Given the description of an element on the screen output the (x, y) to click on. 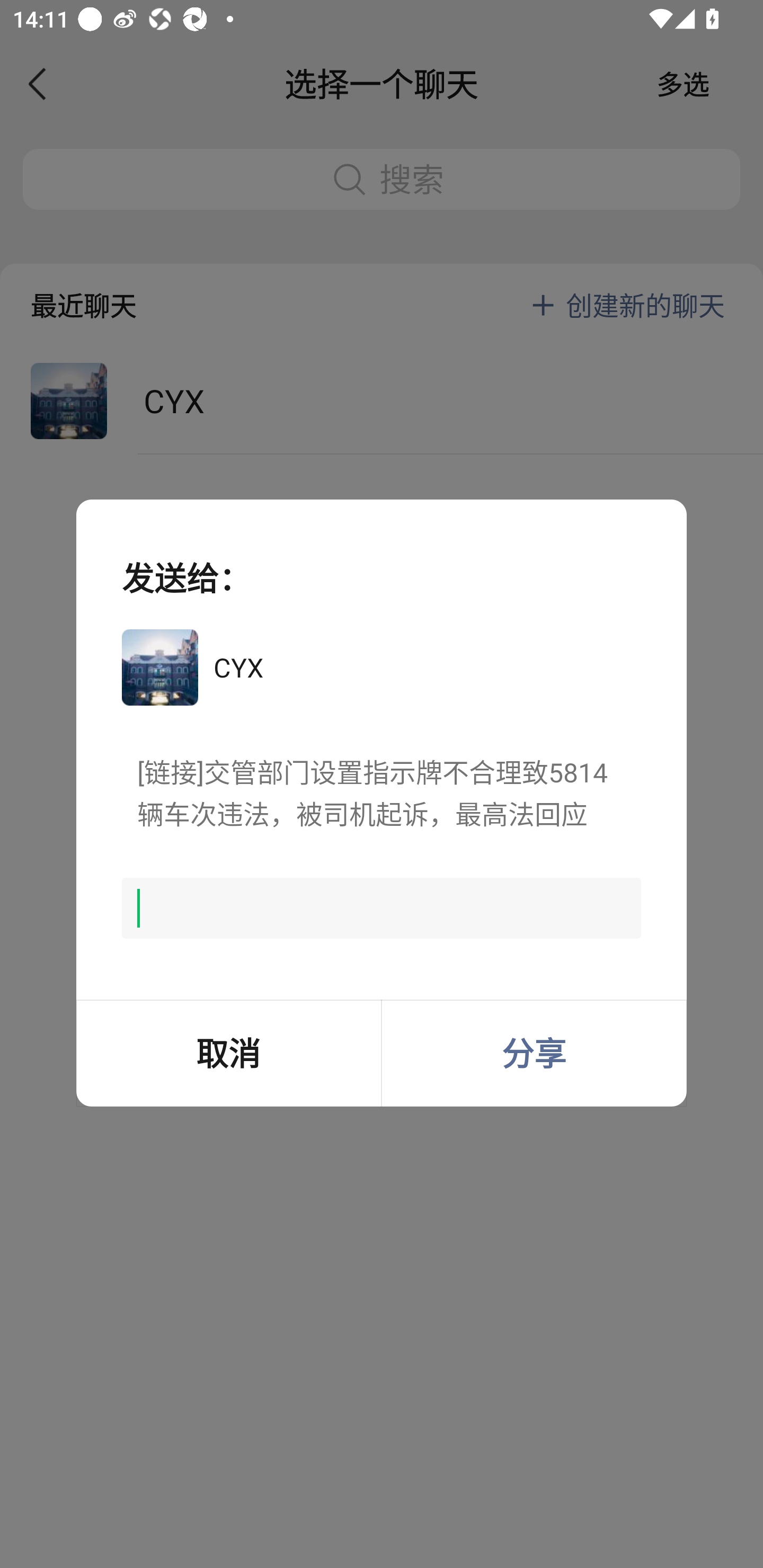
取消 (228, 1053)
分享 (534, 1053)
